Given the description of an element on the screen output the (x, y) to click on. 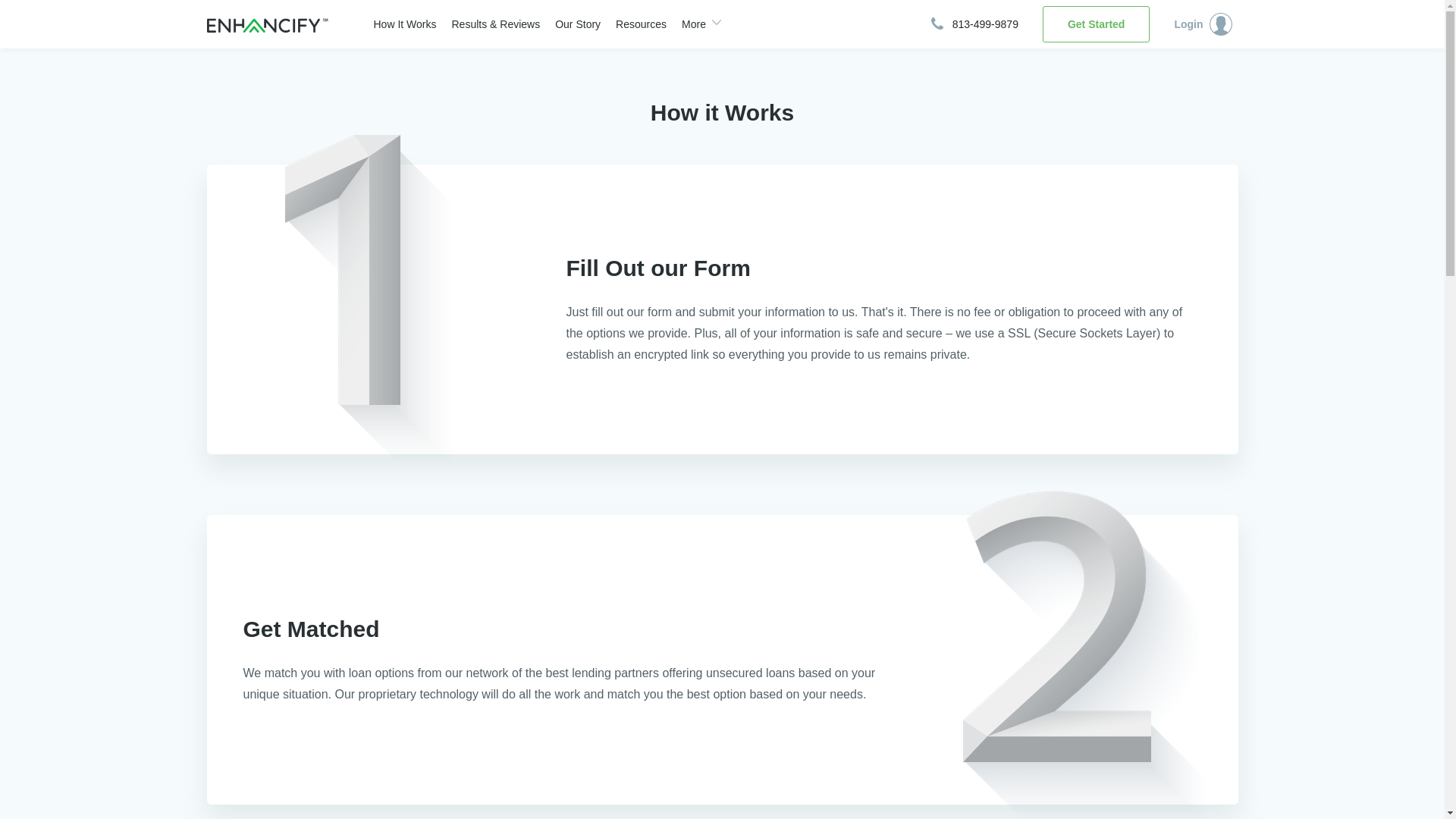
Our Story (569, 24)
How It Works (396, 24)
Get Started (1096, 23)
Login (1205, 24)
Resources (632, 24)
813-499-9879 (974, 24)
